Given the description of an element on the screen output the (x, y) to click on. 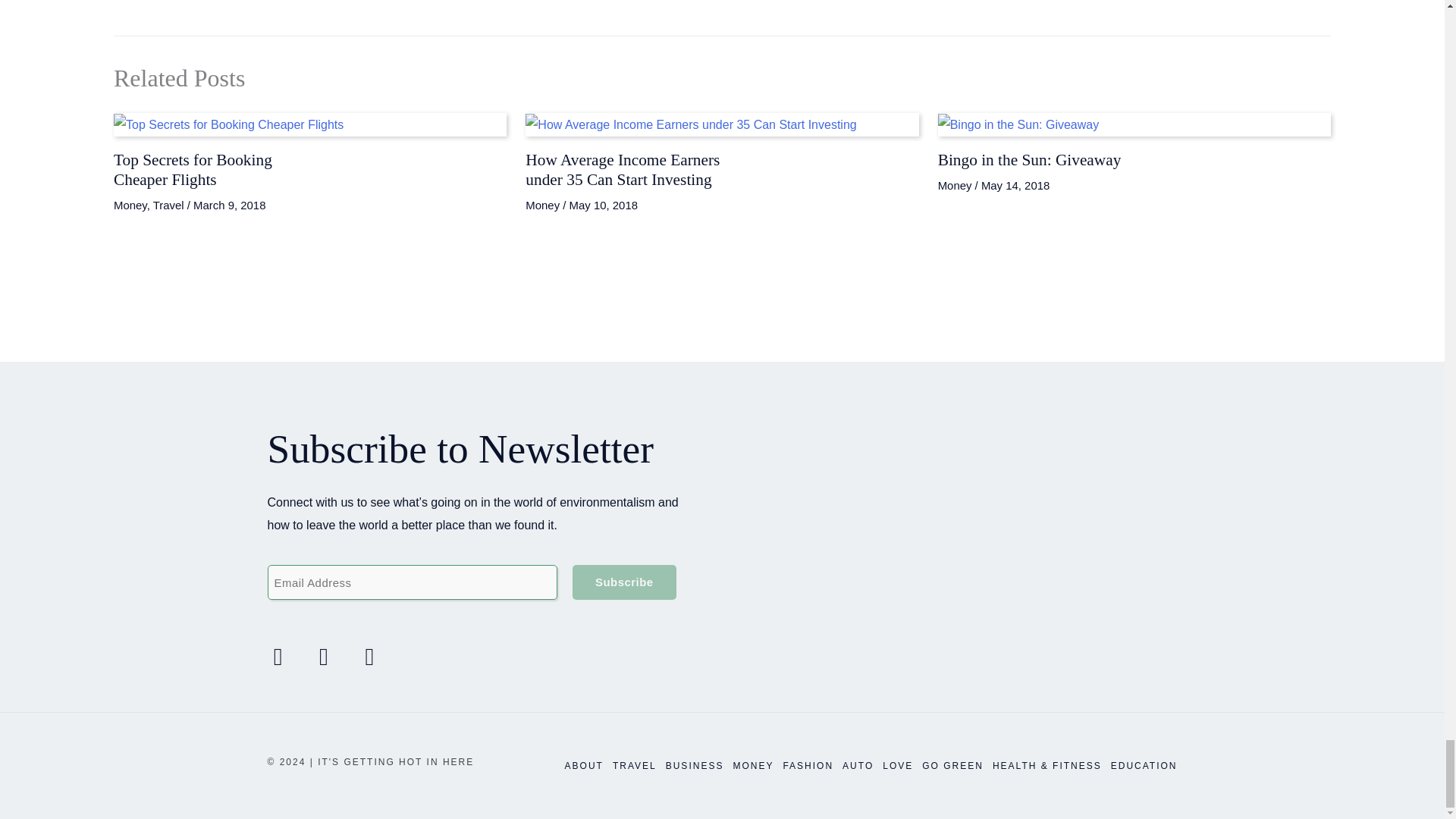
How Average Income Earners under 35 Can Start Investing (622, 169)
Money (130, 205)
Default Label (368, 655)
Travel (168, 205)
Instagram (323, 655)
Top Secrets for Booking Cheaper Flights (192, 169)
Facebook (277, 655)
Money (542, 205)
